Given the description of an element on the screen output the (x, y) to click on. 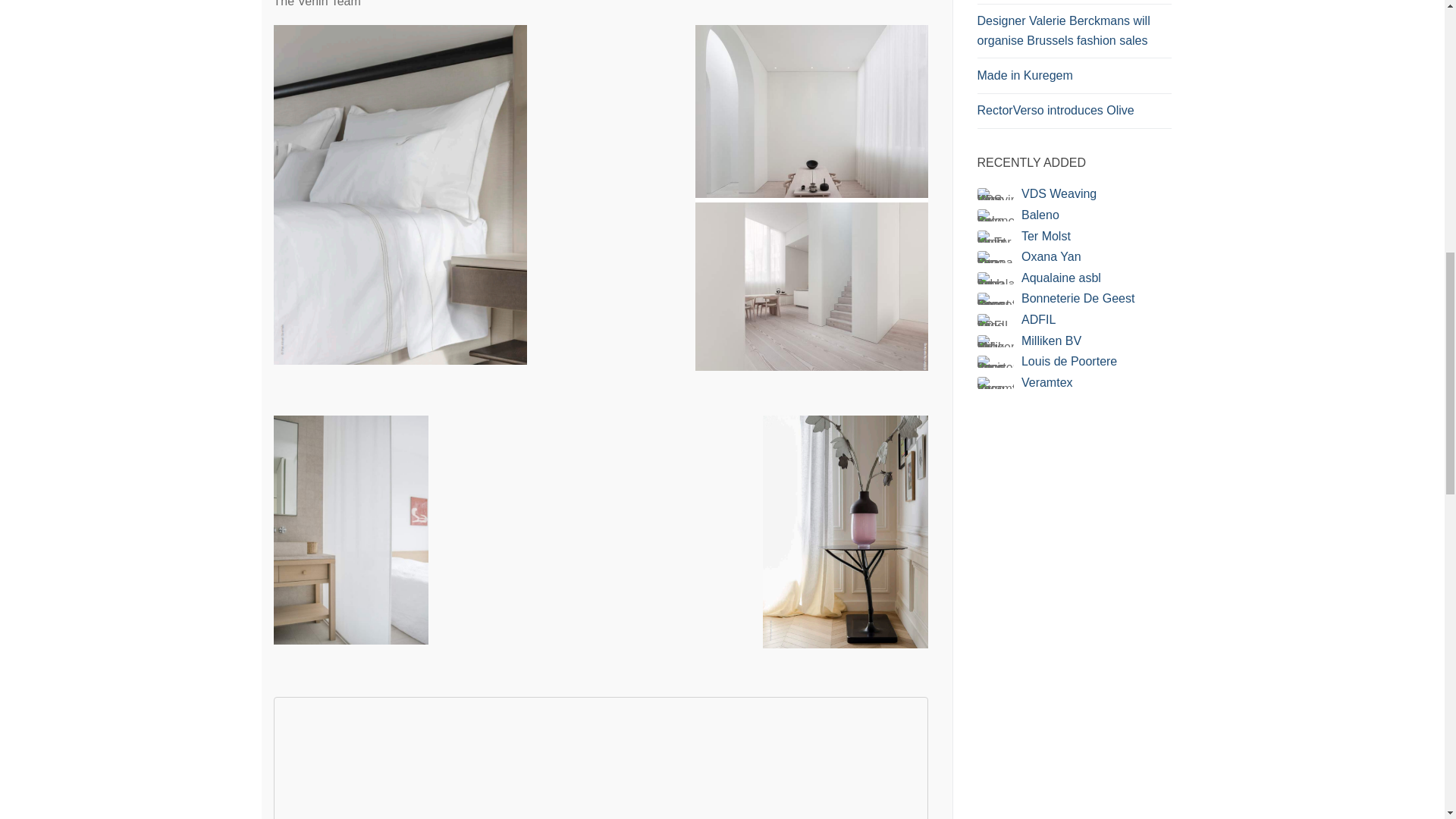
Logo for Baleno (994, 215)
Made in Kuregem (1073, 79)
Logo for VDS Weaving (994, 193)
RectorVerso introduces Olive (1073, 113)
VDS Weaving (1059, 193)
